Given the description of an element on the screen output the (x, y) to click on. 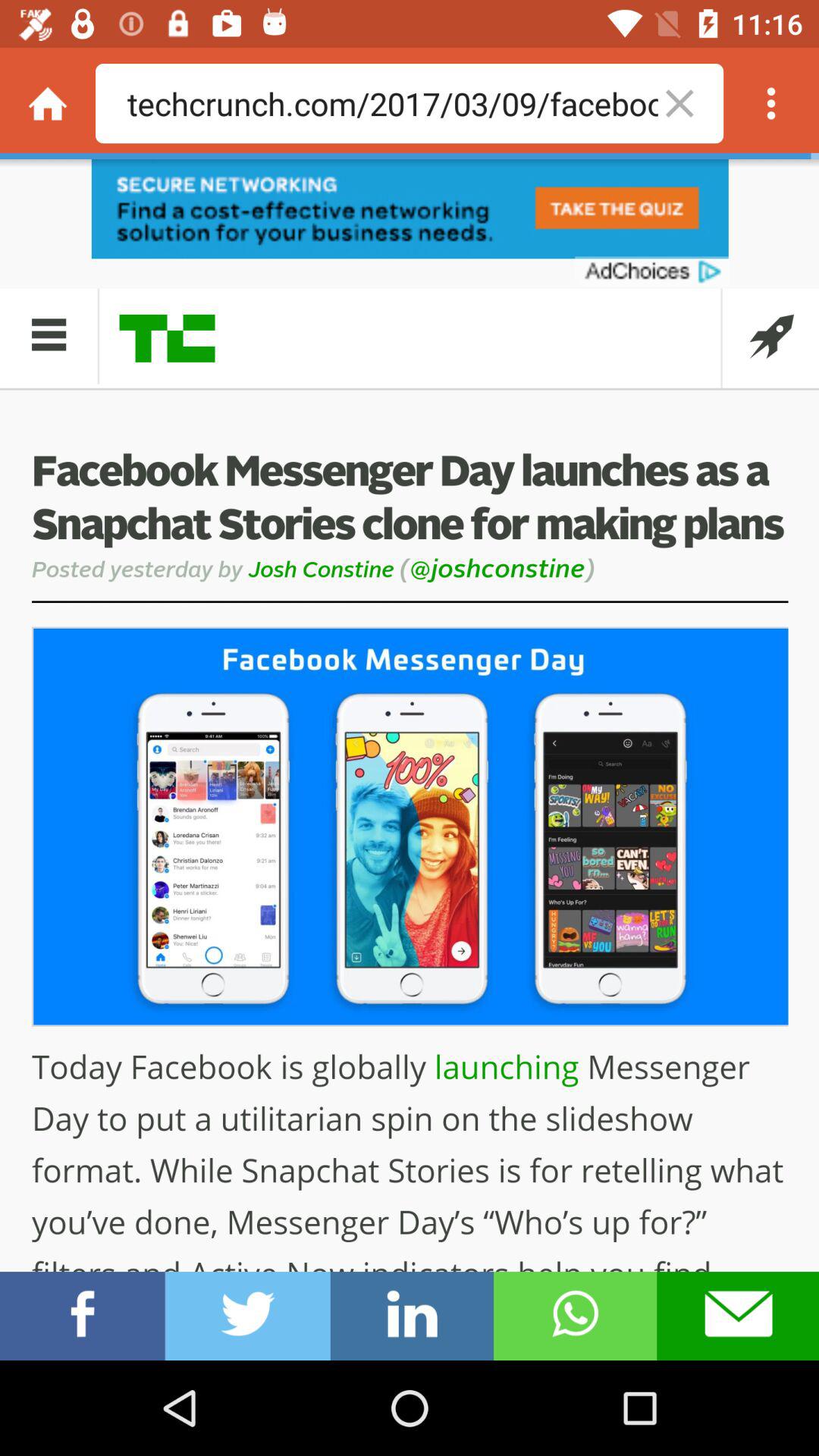
open menu (771, 103)
